Given the description of an element on the screen output the (x, y) to click on. 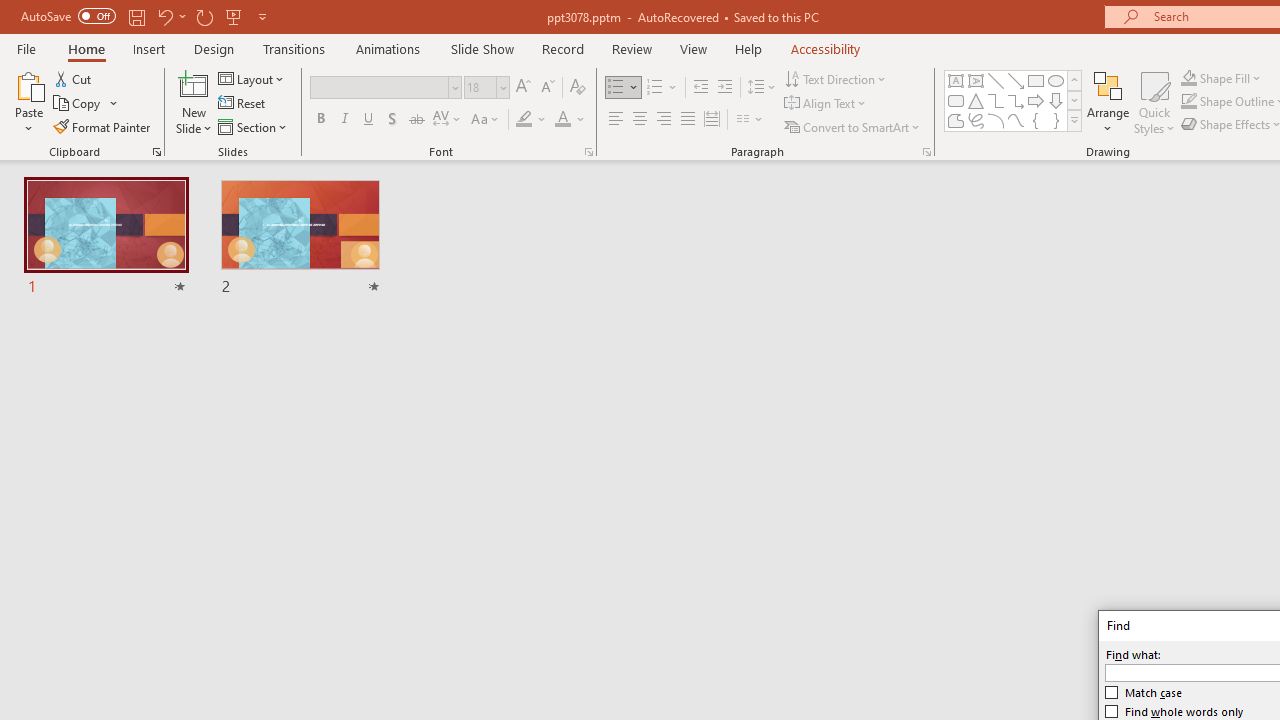
Match case (1144, 692)
Find whole words only (1174, 712)
